Given the description of an element on the screen output the (x, y) to click on. 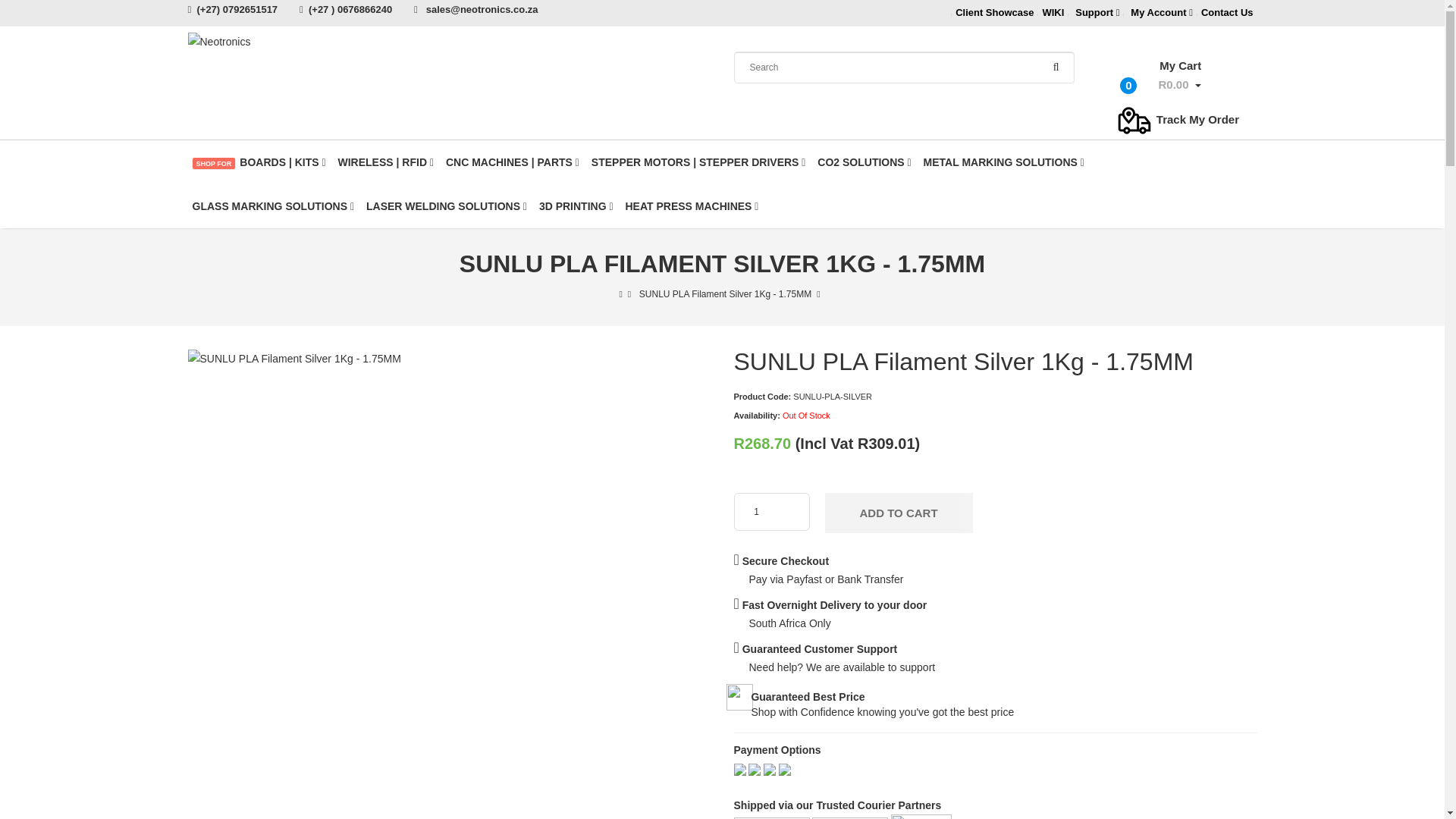
Neotronics (218, 41)
Client Showcase (994, 12)
Track My Order (1177, 119)
My Account (1161, 12)
Support (1096, 12)
1 (771, 511)
Contact Us (1226, 12)
WIKI (1162, 75)
